Given the description of an element on the screen output the (x, y) to click on. 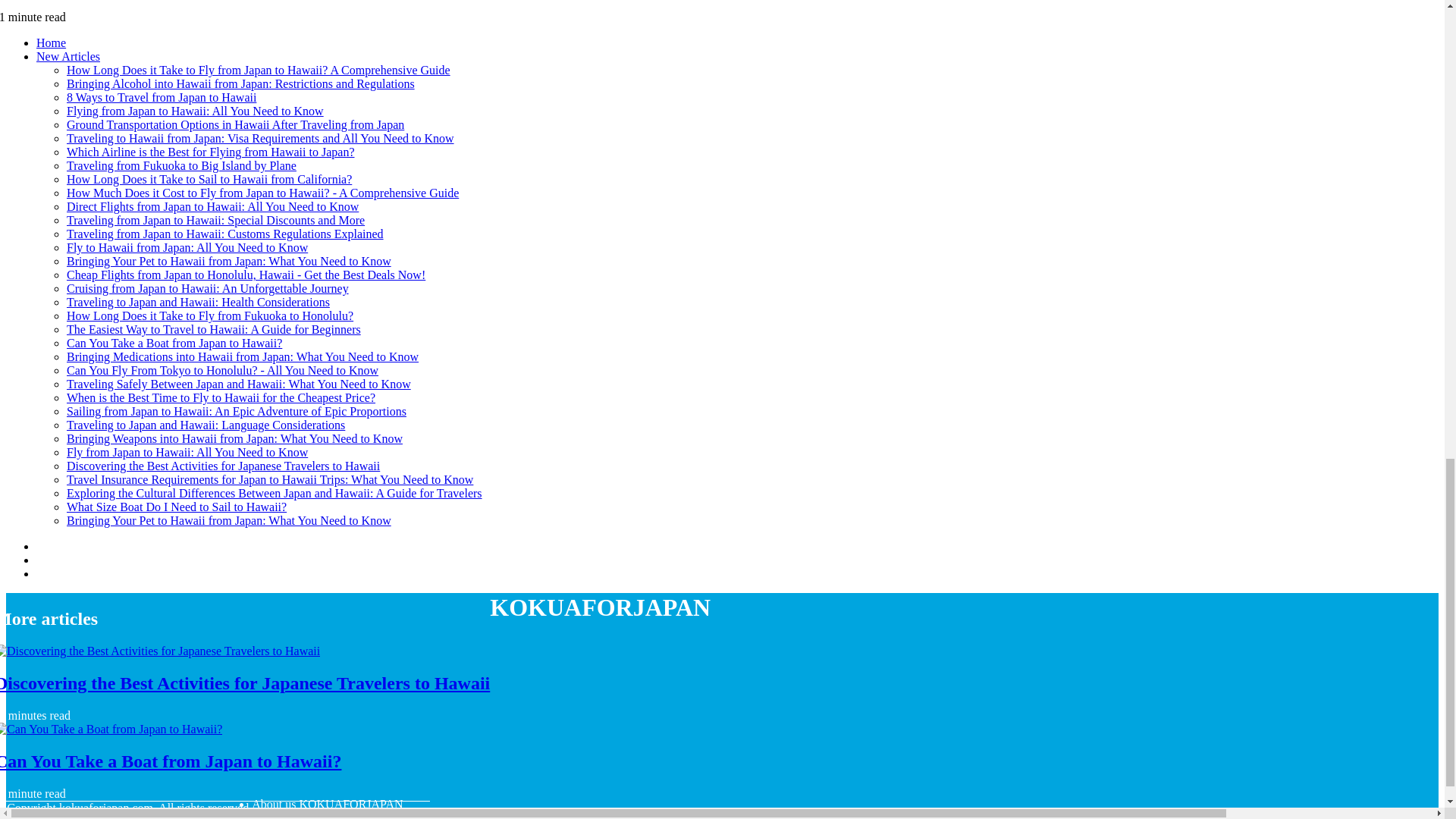
New Articles (68, 56)
Which Airline is the Best for Flying from Hawaii to Japan? (209, 151)
Home (50, 42)
Flying from Japan to Hawaii: All You Need to Know (194, 110)
8 Ways to Travel from Japan to Hawaii (161, 97)
